Given the description of an element on the screen output the (x, y) to click on. 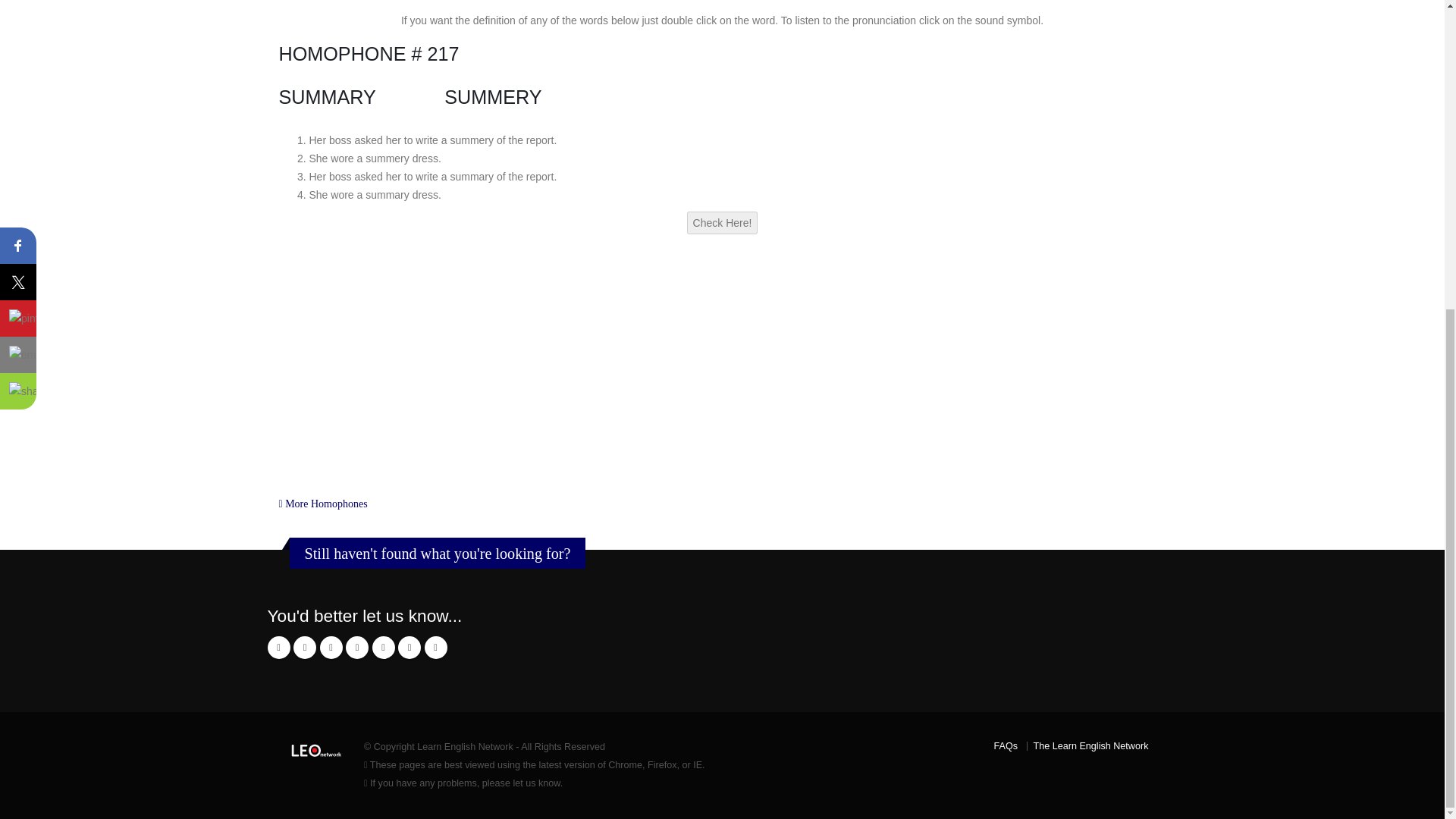
FAQs (1005, 746)
Learn English on Twitter (357, 647)
YouTube (408, 647)
Check Here! (722, 222)
The Learn English Network (1090, 746)
Learn English on Google Plus (277, 647)
Learn English on Flickr (382, 647)
Learn English on Pinterest (435, 647)
Learn English on Facebook (331, 647)
